Given the description of an element on the screen output the (x, y) to click on. 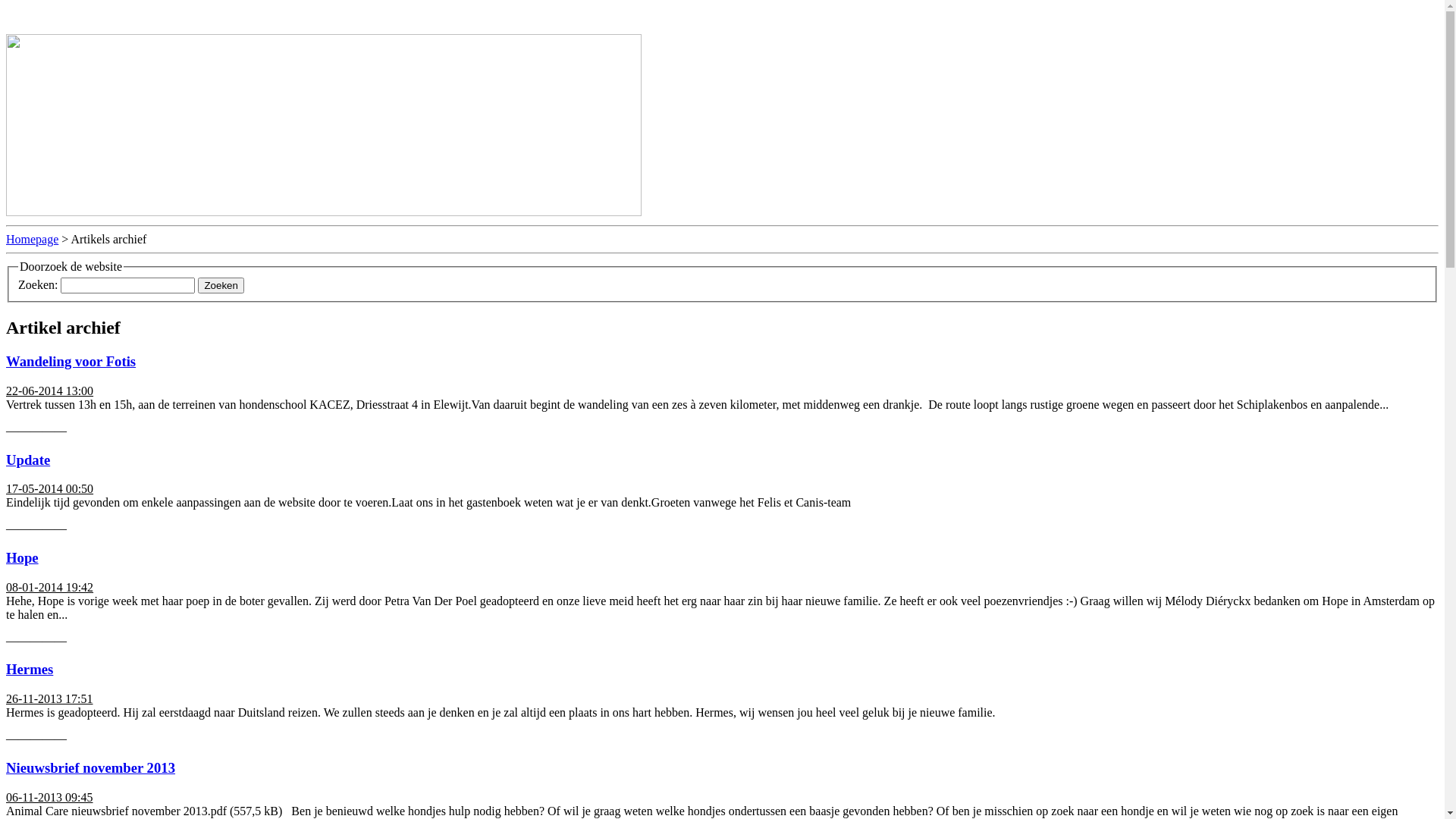
Update Element type: text (28, 459)
Nieuwsbrief november 2013 Element type: text (90, 767)
Hermes Element type: text (29, 669)
Hope Element type: text (22, 557)
Wandeling voor Fotis Element type: text (70, 361)
Ga naar homepagina Element type: hover (39, 12)
Homepage Element type: text (32, 238)
Zoeken Element type: text (220, 285)
